Given the description of an element on the screen output the (x, y) to click on. 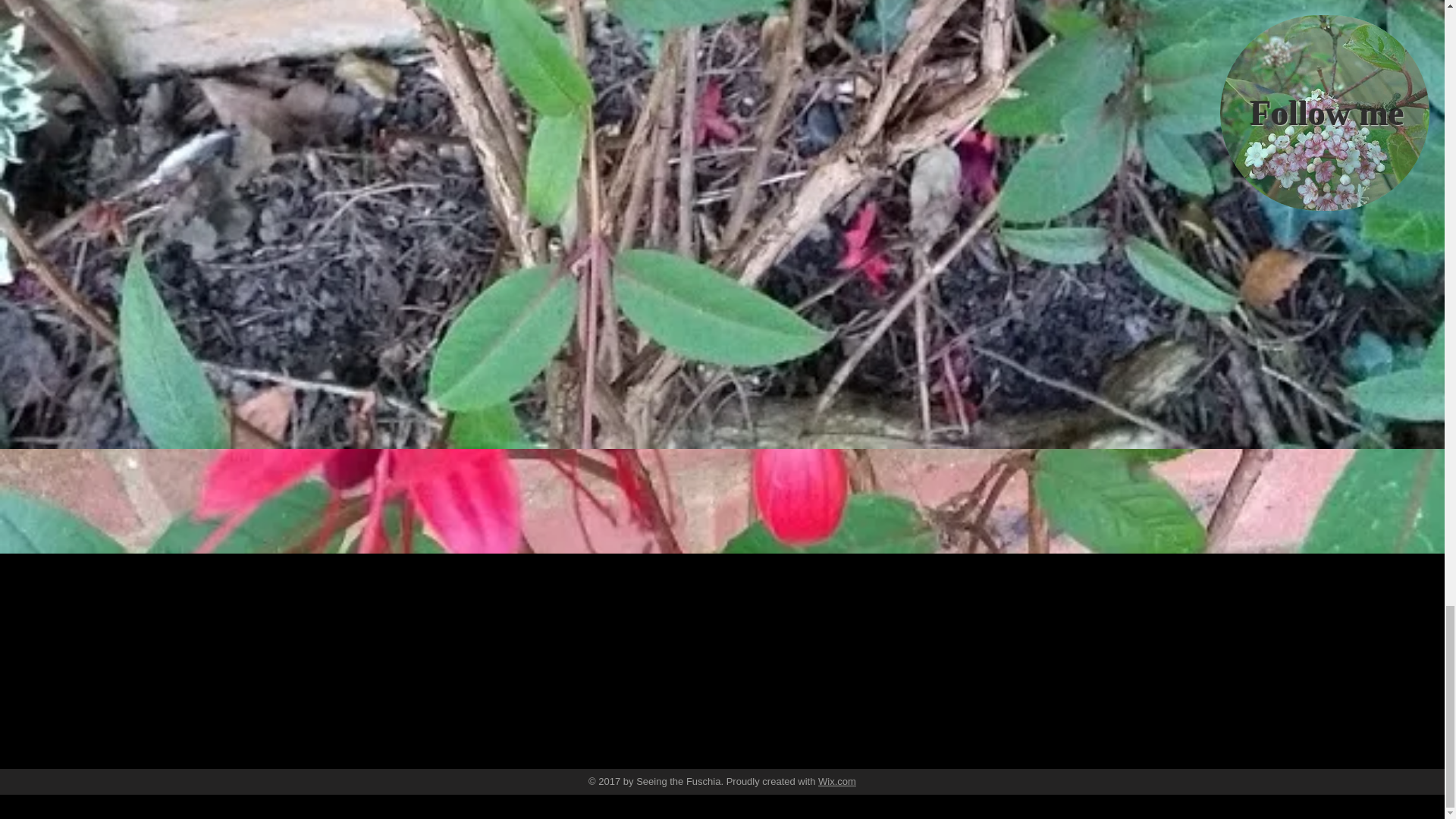
Wix.com (837, 781)
